Given the description of an element on the screen output the (x, y) to click on. 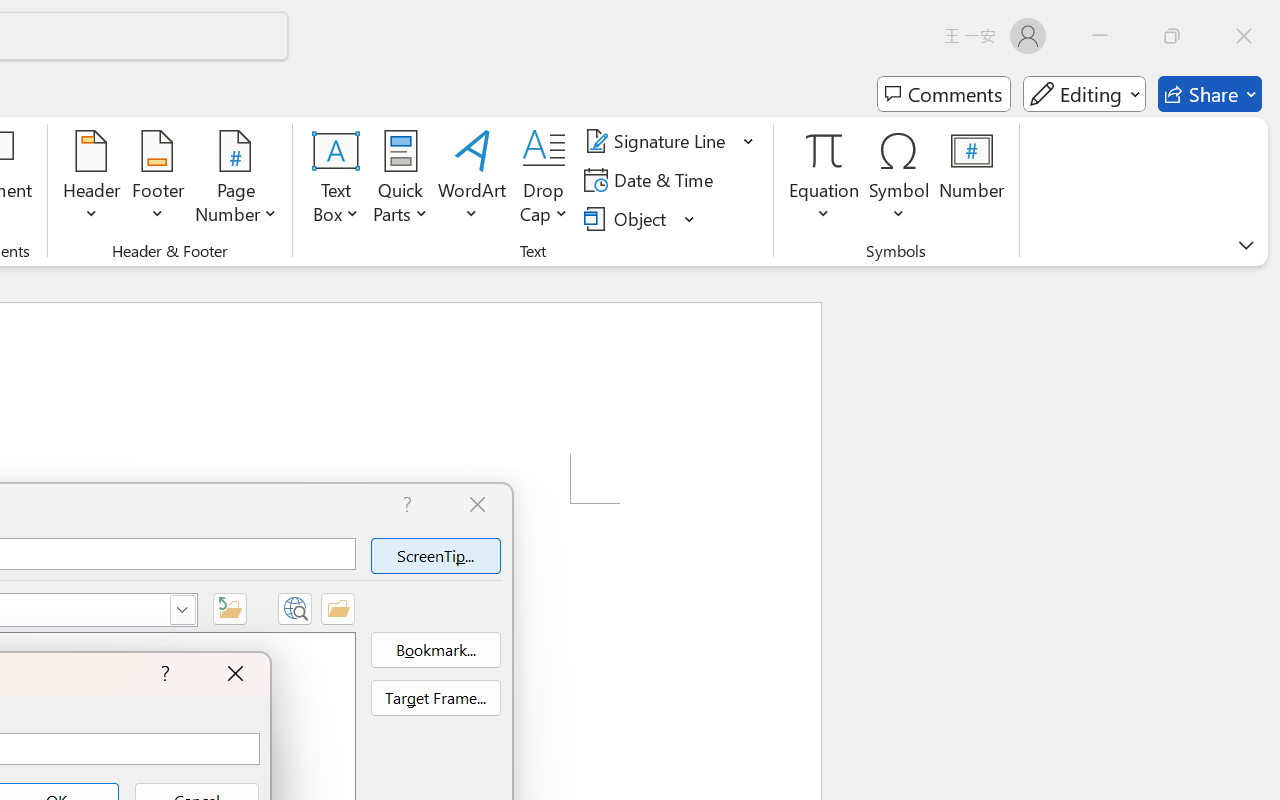
Restore Down (1172, 36)
Symbol (899, 179)
Close (1244, 36)
Date & Time... (651, 179)
Signature Line (669, 141)
Drop Cap (543, 179)
Target Frame... (435, 697)
Up One Folder (230, 608)
Equation (823, 179)
Comments (943, 94)
Page Number (236, 179)
Share (1210, 94)
Number... (971, 179)
Bookmark... (435, 649)
